Given the description of an element on the screen output the (x, y) to click on. 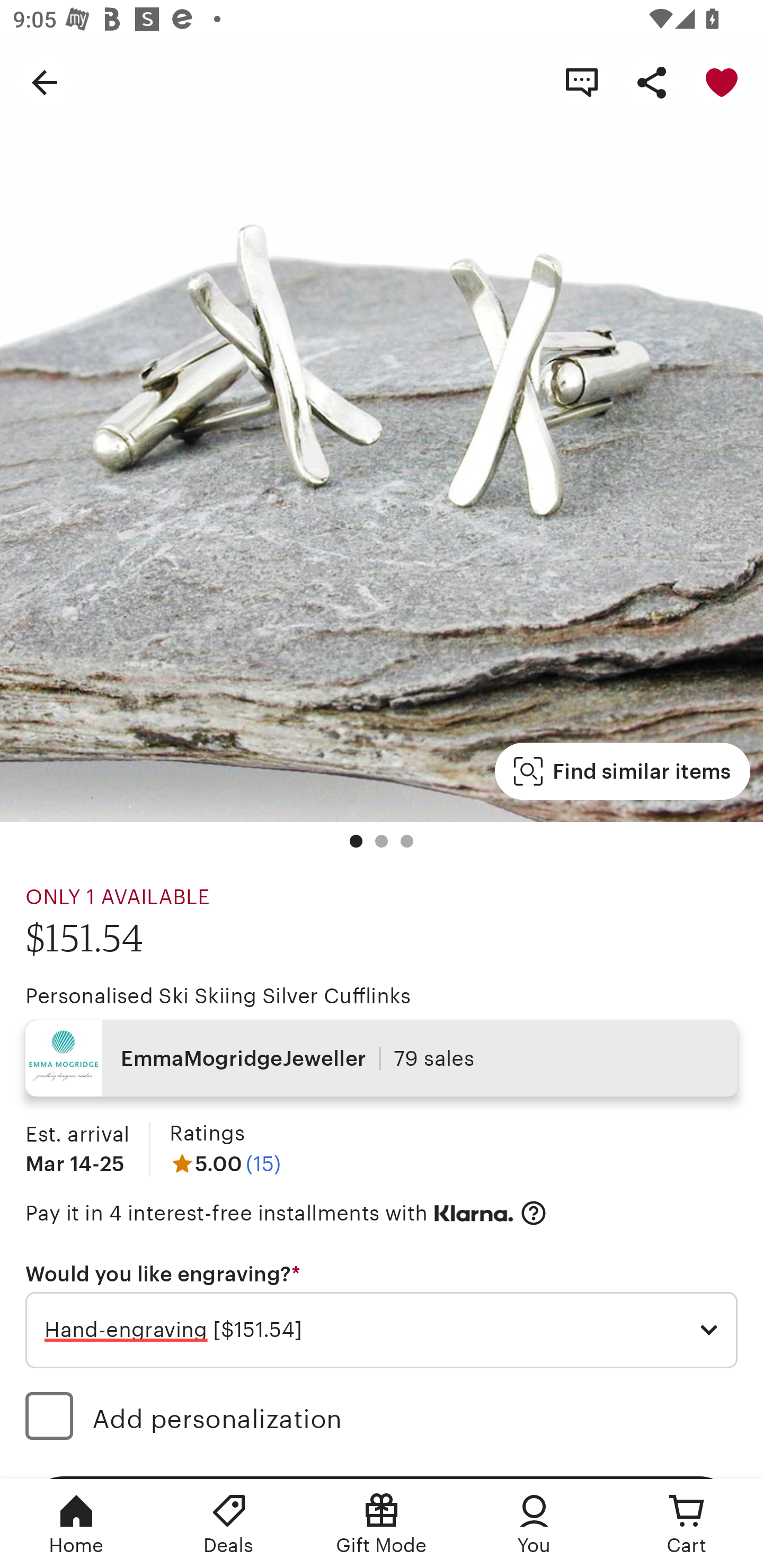
Navigate up (44, 81)
Contact shop (581, 81)
Share (651, 81)
Find similar items (622, 771)
Personalised Ski Skiing Silver Cufflinks (218, 996)
EmmaMogridgeJeweller 79 sales (381, 1058)
Ratings (206, 1133)
5.00 (15) (225, 1163)
Hand-engraving [$151.54] (381, 1330)
Add personalization (optional) Add personalization (381, 1418)
Deals (228, 1523)
Gift Mode (381, 1523)
You (533, 1523)
Cart (686, 1523)
